Given the description of an element on the screen output the (x, y) to click on. 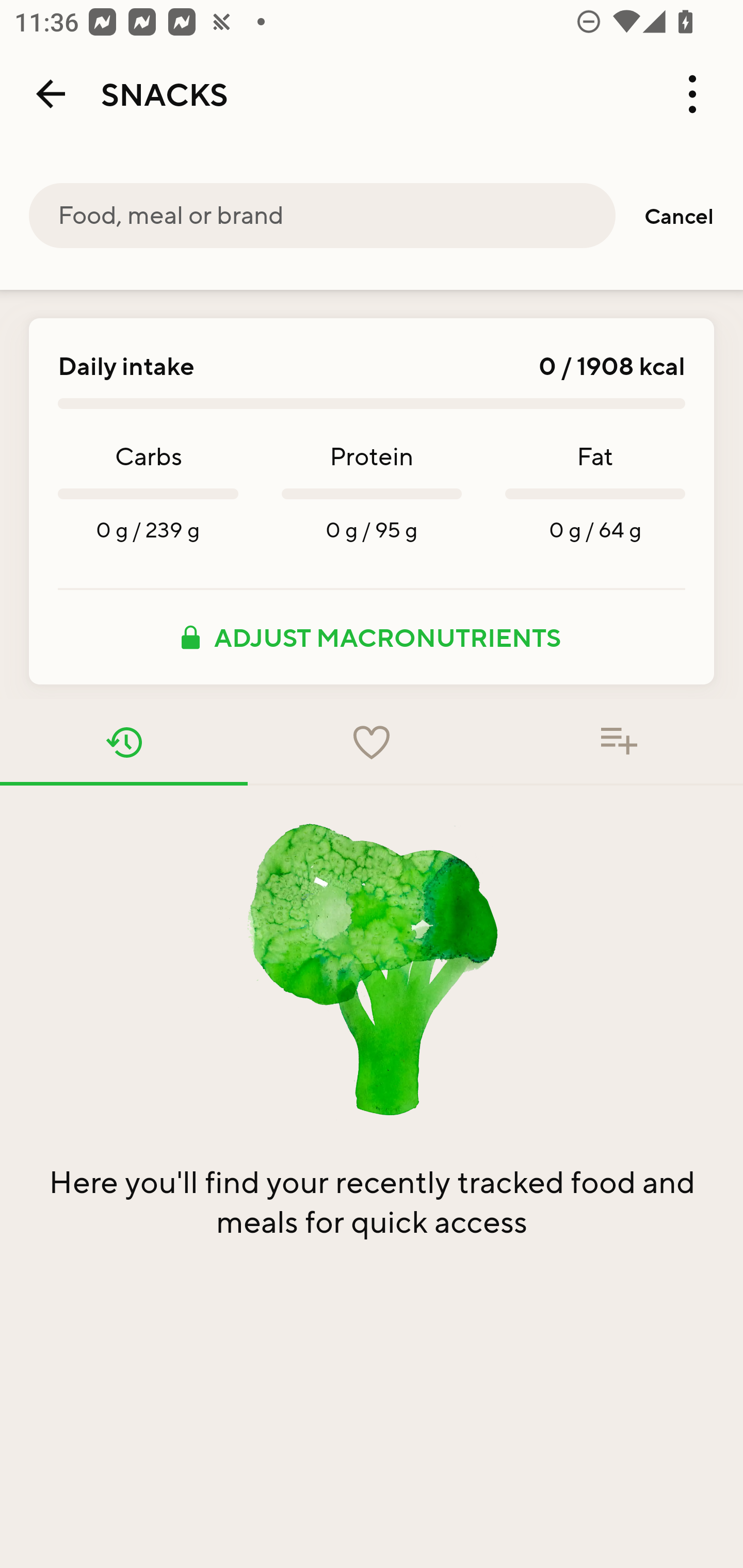
Back (50, 93)
Cancel (679, 215)
ADJUST MACRONUTRIENTS (371, 637)
Favorites (371, 742)
Food added (619, 742)
